Given the description of an element on the screen output the (x, y) to click on. 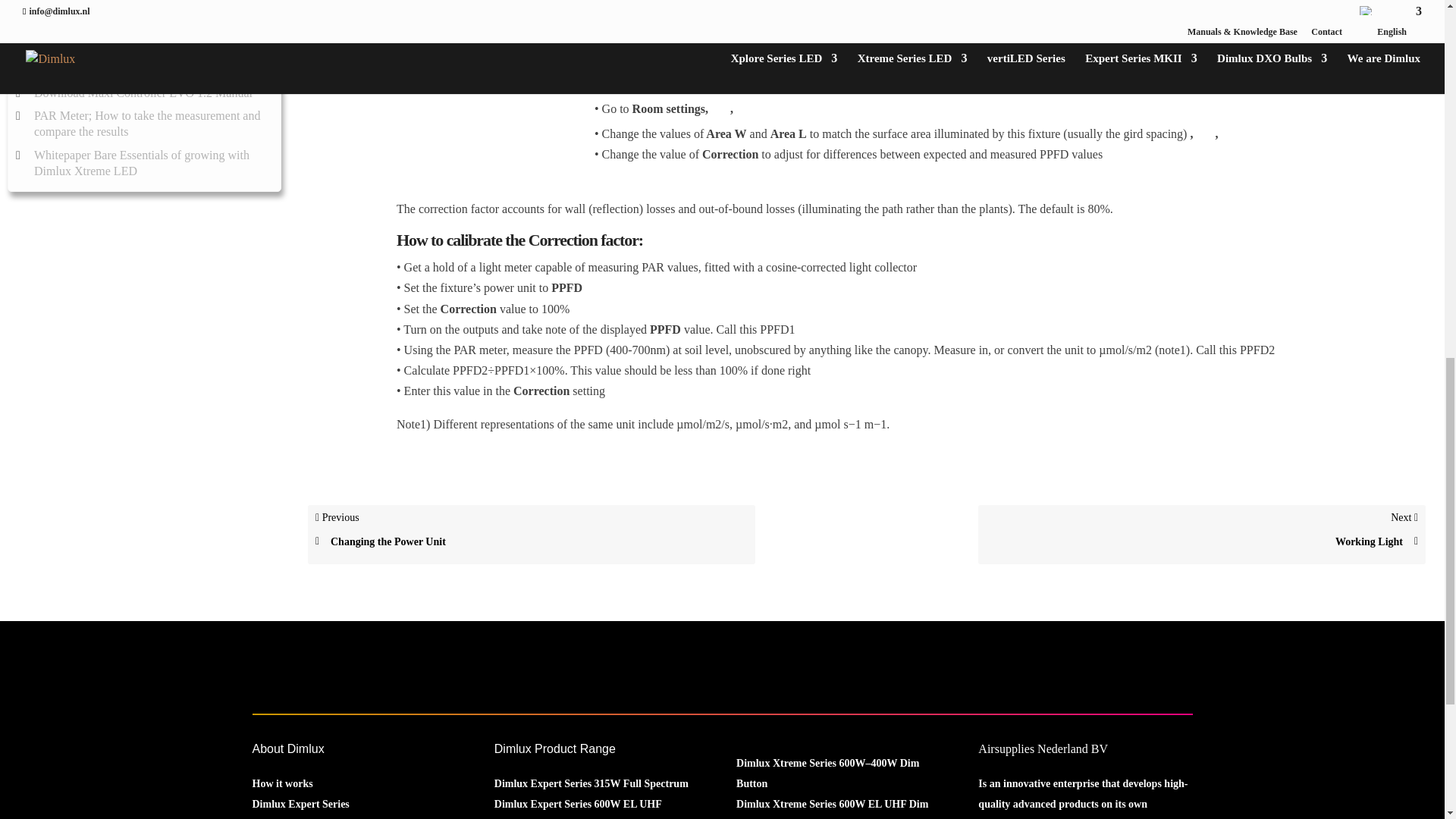
Changing the Power Unit (531, 541)
Working Light (1201, 541)
